Given the description of an element on the screen output the (x, y) to click on. 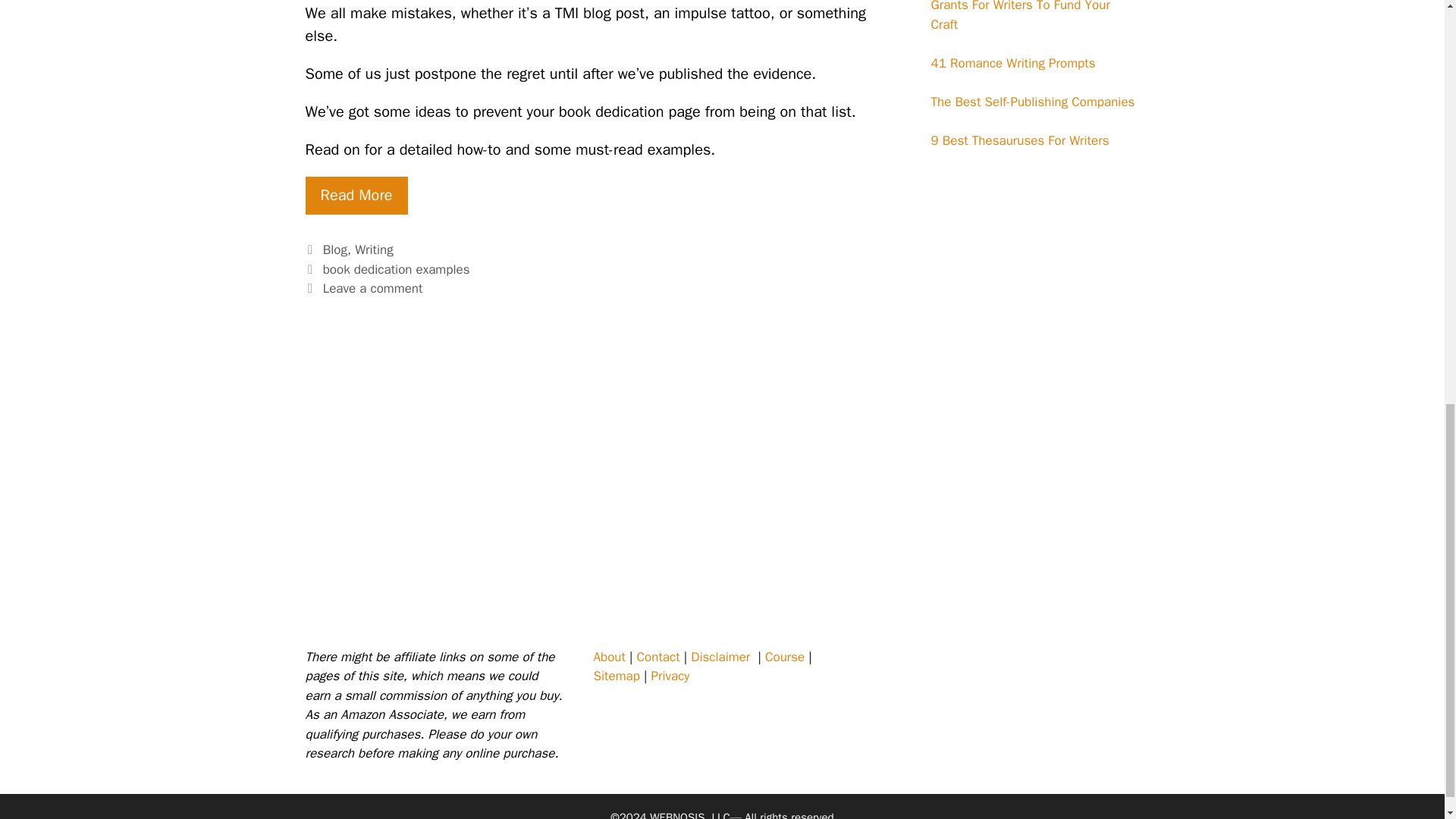
Disclaimer (719, 657)
The Best Self-Publishing Companies (1033, 101)
Course (785, 657)
About (608, 657)
Sitemap (615, 675)
Writing (374, 249)
41 Romance Writing Prompts (1013, 63)
Grants For Writers To Fund Your Craft (1020, 16)
Leave a comment (373, 288)
Contact (658, 657)
Scroll back to top (1406, 720)
Blog (335, 249)
book dedication examples (396, 269)
Read More (355, 195)
Privacy (670, 675)
